Given the description of an element on the screen output the (x, y) to click on. 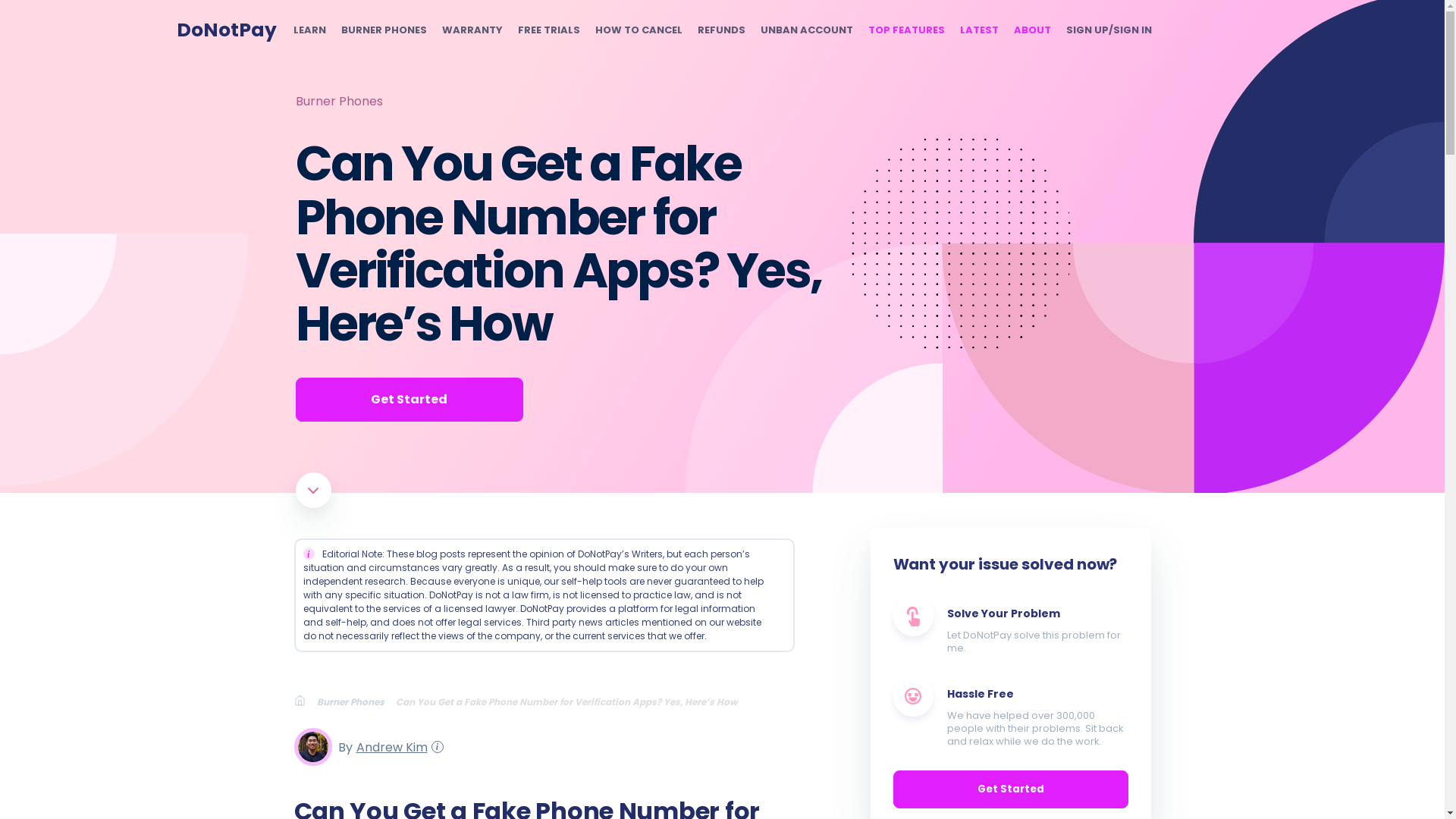
DoNotPay (226, 29)
LATEST (978, 29)
Andrew Kim (389, 746)
Burner Phones (356, 700)
FREE TRIALS (547, 29)
Get Started (408, 399)
LEARN (308, 29)
Burner Phones (338, 100)
ABOUT (1031, 29)
WARRANTY (471, 29)
